Given the description of an element on the screen output the (x, y) to click on. 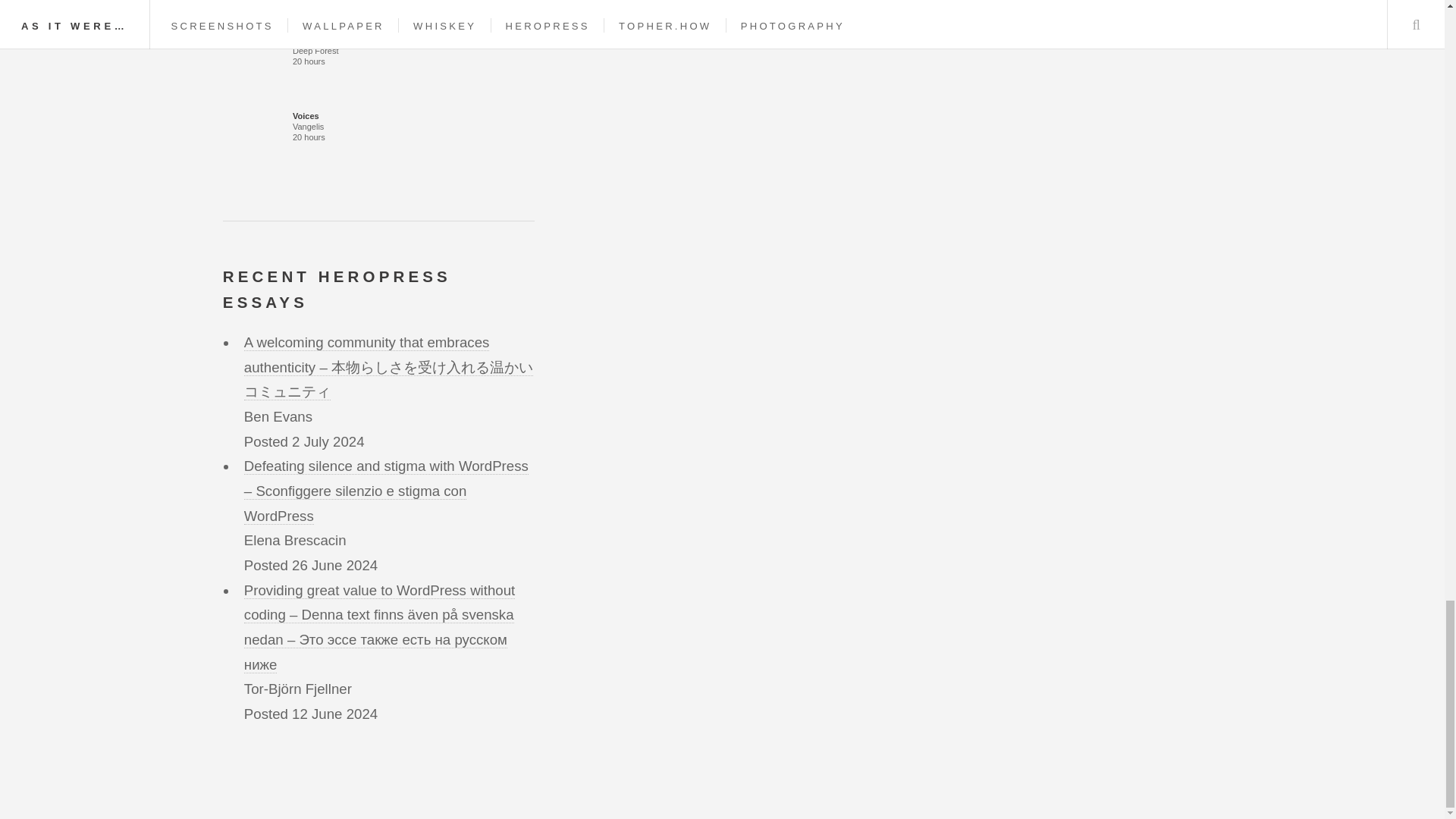
Post Comment (644, 2)
Post Comment (644, 2)
